Given the description of an element on the screen output the (x, y) to click on. 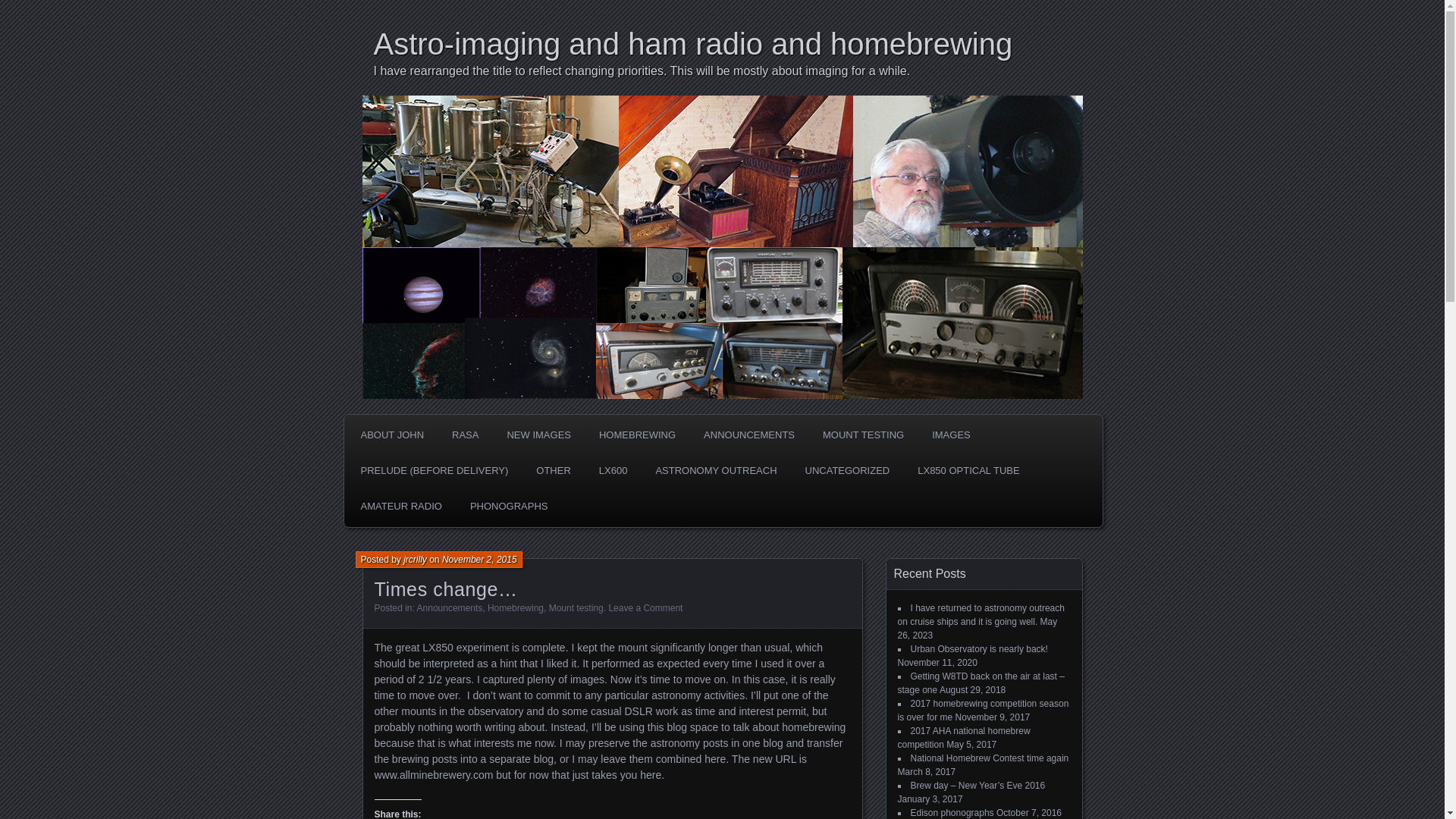
Edison phonographs (951, 812)
OTHER (553, 470)
Mount testing (576, 607)
LX850 OPTICAL TUBE (967, 470)
jrcrilly (414, 559)
IMAGES (950, 435)
ASTRONOMY OUTREACH (715, 470)
National Homebrew Contest time again (989, 757)
Leave a Comment (645, 607)
